Given the description of an element on the screen output the (x, y) to click on. 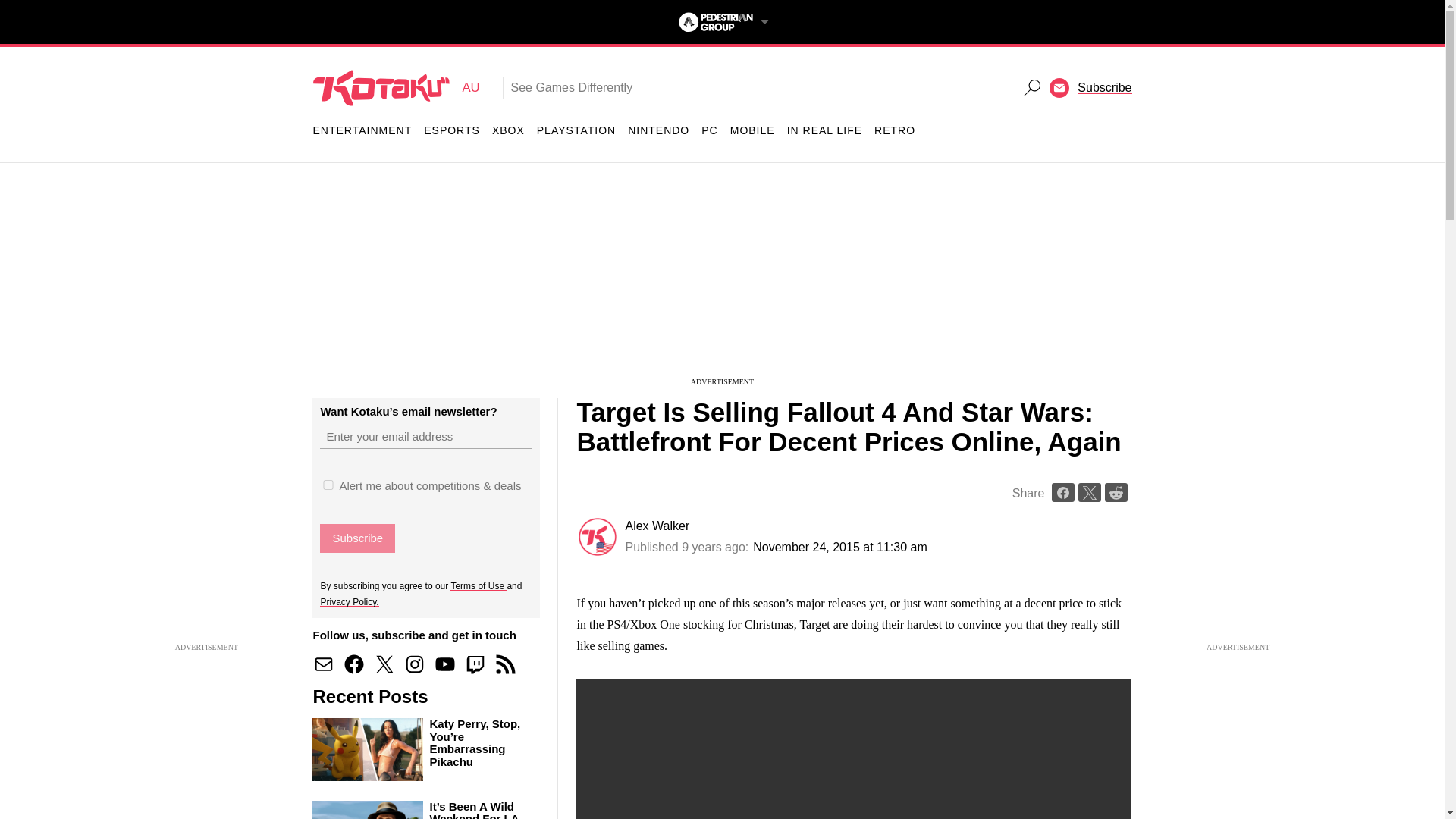
Terms of Use (477, 585)
Subscribe (357, 538)
youtube (445, 663)
IN REAL LIFE (824, 130)
ESPORTS (451, 130)
NINTENDO (396, 87)
twitch (657, 130)
Subscribe (475, 663)
facebook (357, 538)
MOBILE (353, 663)
feed (752, 130)
ENTERTAINMENT (505, 663)
instagram (362, 130)
Privacy Policy. (414, 663)
